Given the description of an element on the screen output the (x, y) to click on. 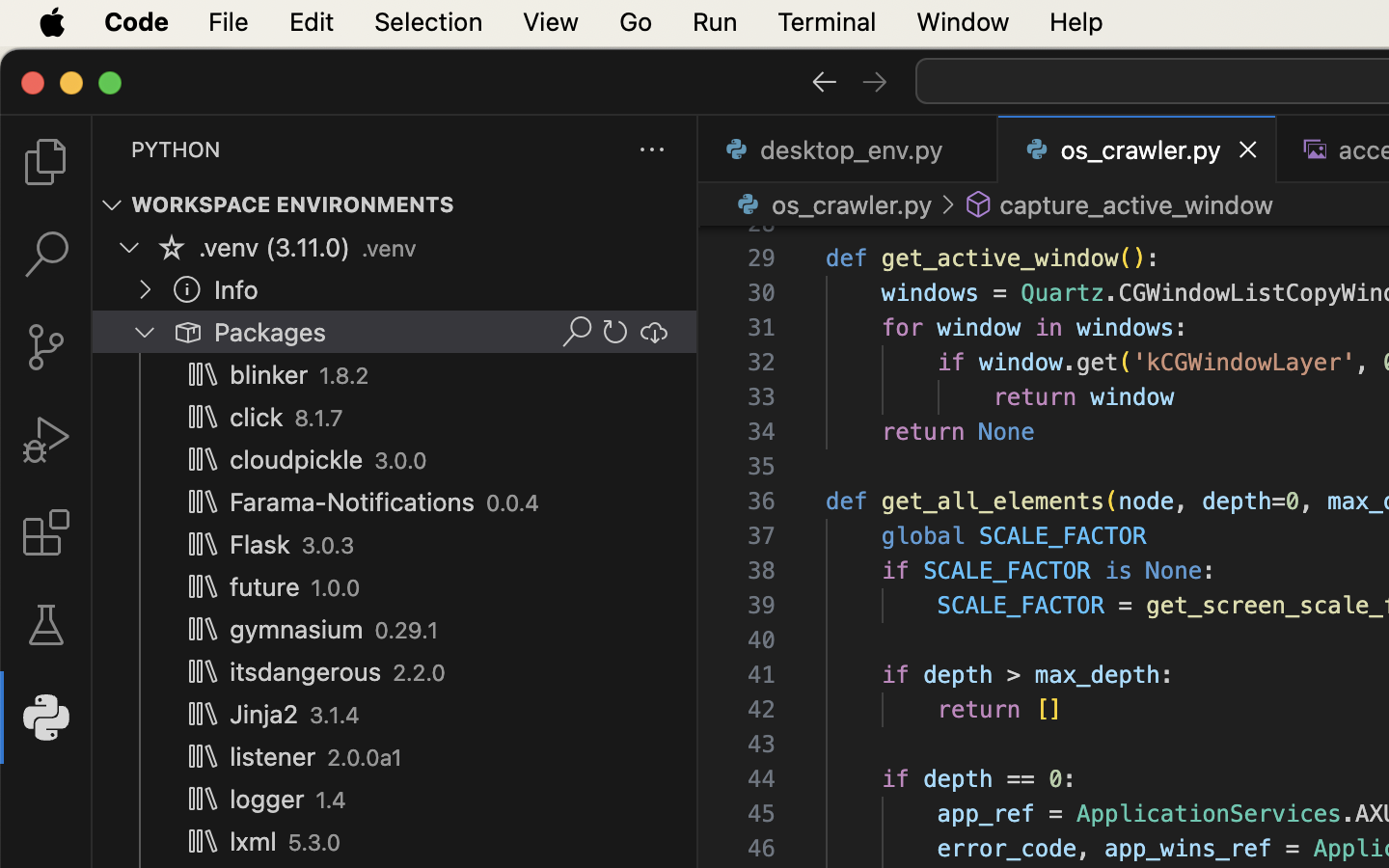
 Element type: AXStaticText (202, 373)
gymnasium Element type: AXStaticText (296, 629)
0  Element type: AXRadioButton (46, 532)
logger Element type: AXStaticText (266, 799)
0.0.4 Element type: AXStaticText (513, 502)
